Given the description of an element on the screen output the (x, y) to click on. 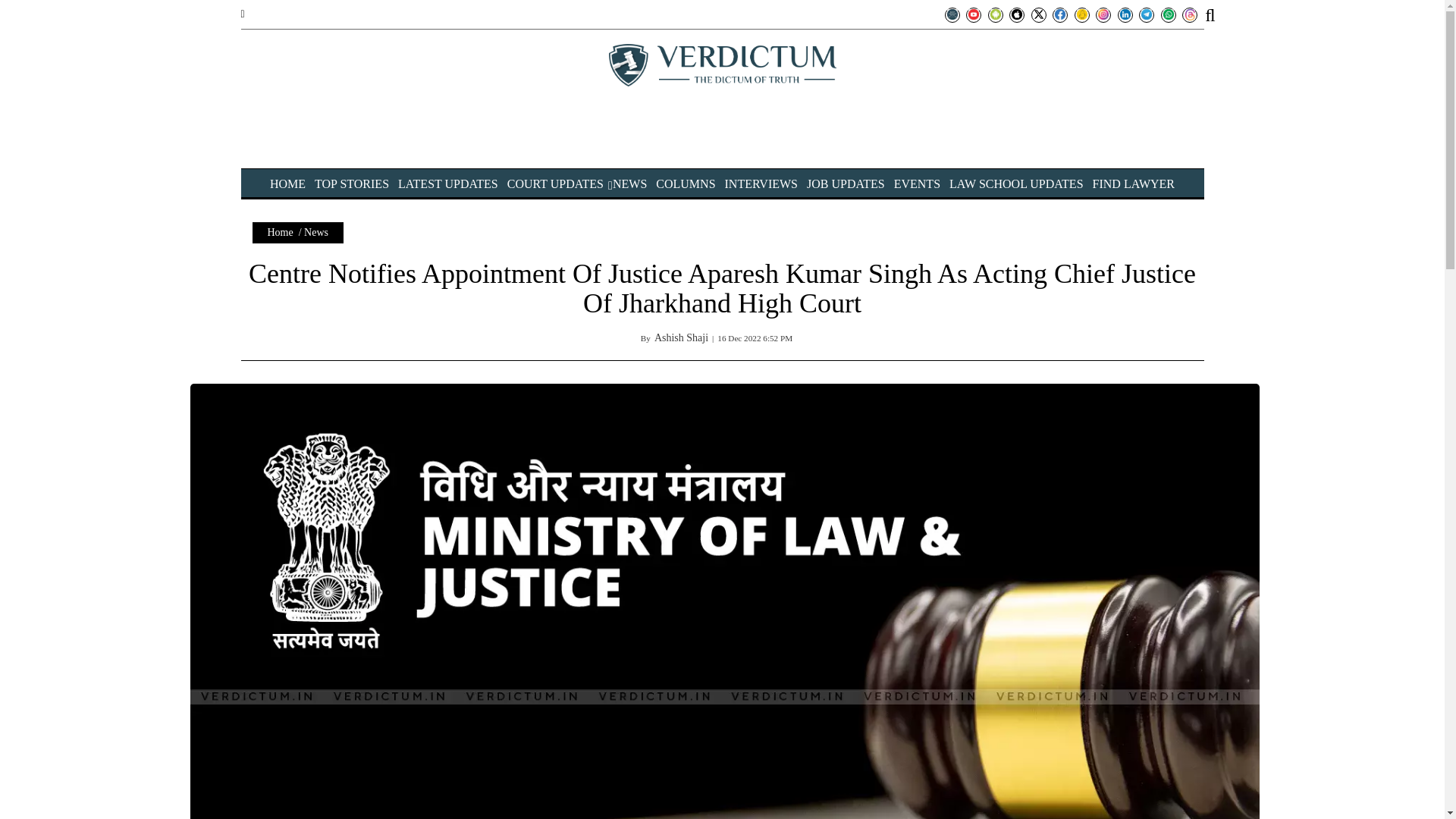
COURT UPDATES (555, 183)
TOP STORIES (351, 183)
COLUMNS (685, 183)
Verdictum (721, 65)
NEWS (629, 183)
EVENTS (916, 183)
INTERVIEWS (761, 183)
JOB UPDATES (845, 183)
HOME (287, 183)
LATEST UPDATES (447, 183)
